Given the description of an element on the screen output the (x, y) to click on. 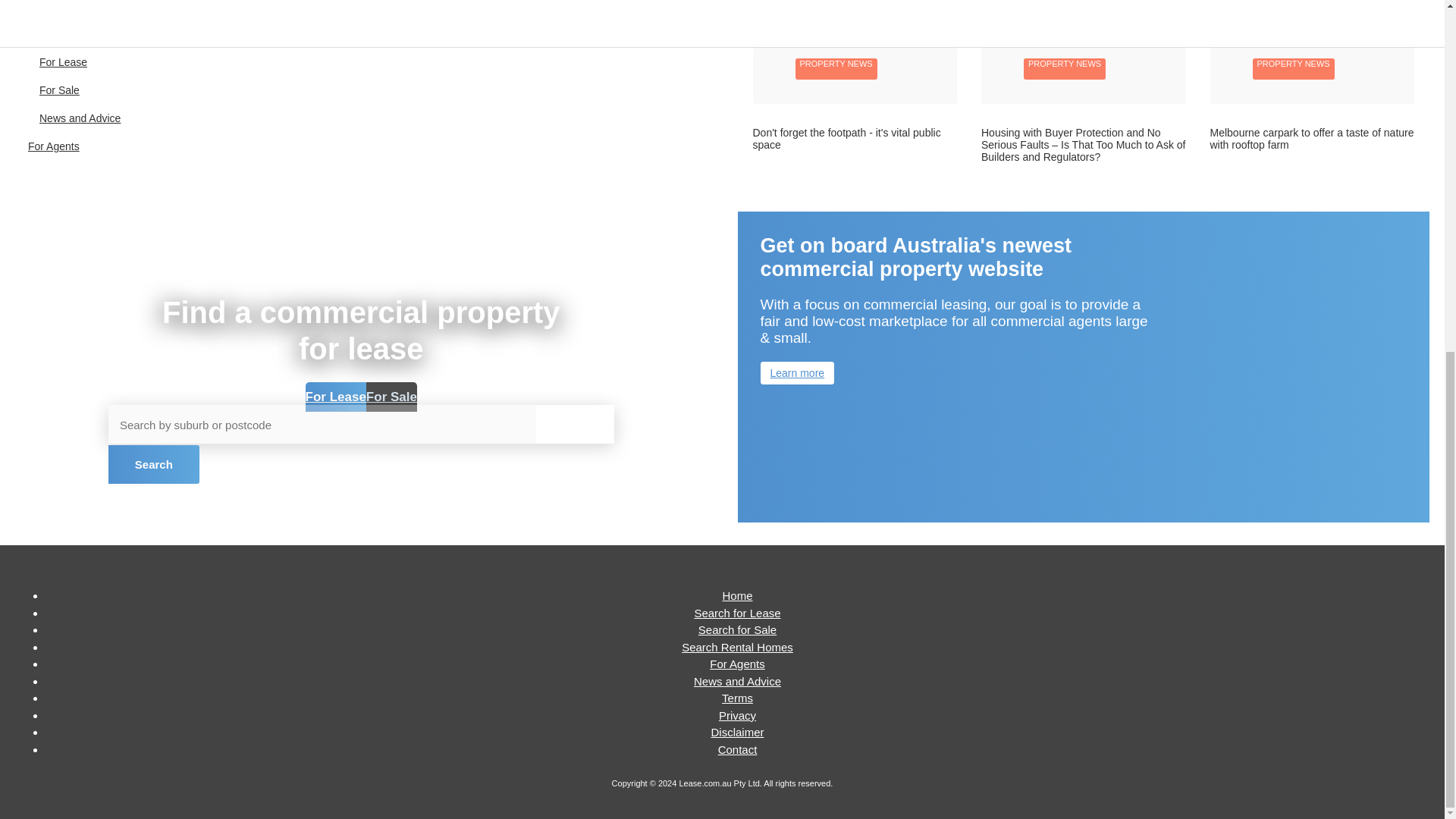
Search Rental Homes (737, 646)
For Agents (737, 663)
Privacy (737, 715)
Search for Lease (737, 612)
Disclaimer (736, 731)
News and Advice (737, 680)
Search for Sale (737, 629)
Home (737, 594)
